Given the description of an element on the screen output the (x, y) to click on. 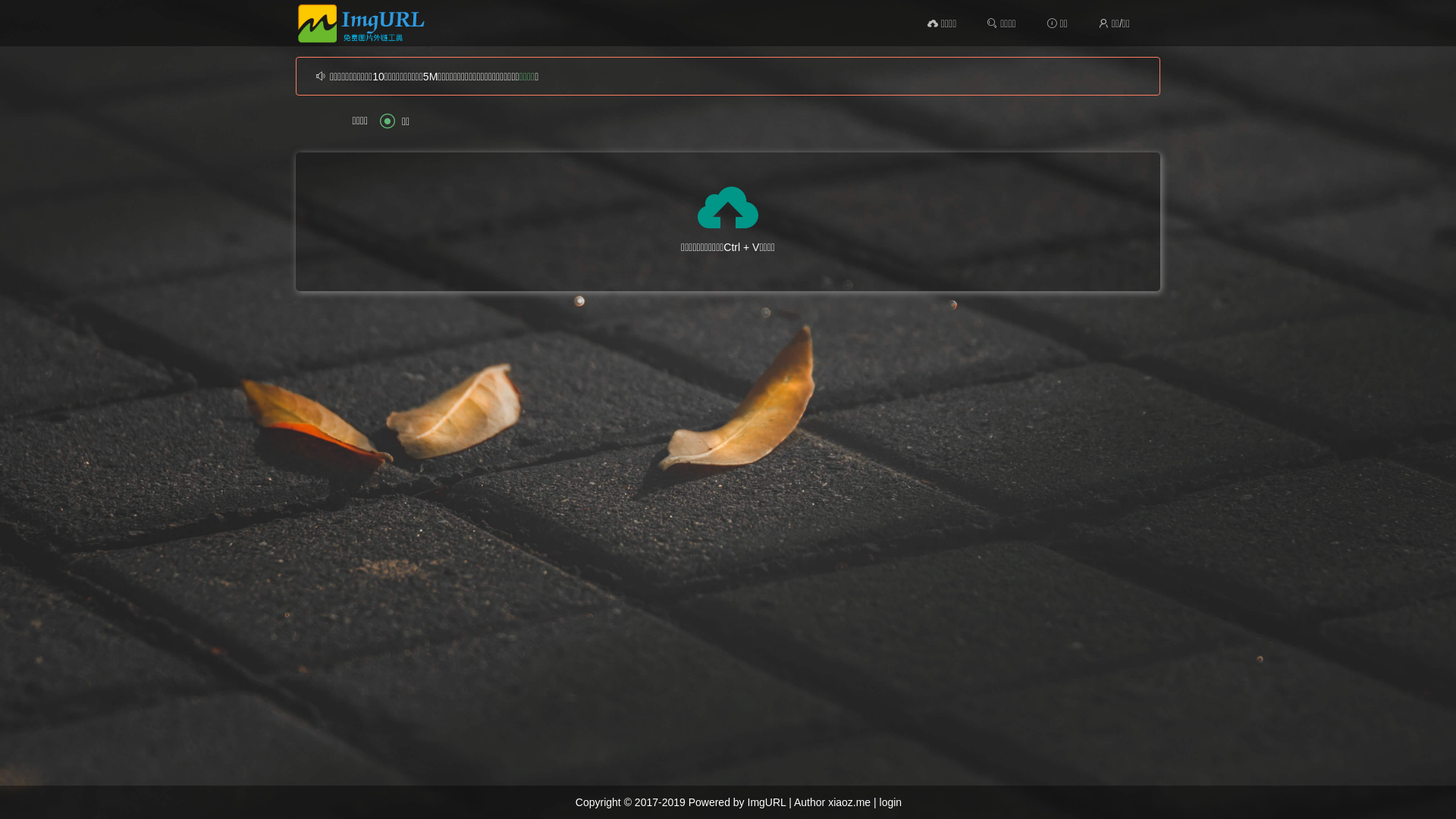
login Element type: text (890, 802)
ImgURL Element type: text (766, 802)
xiaoz.me Element type: text (849, 802)
